Given the description of an element on the screen output the (x, y) to click on. 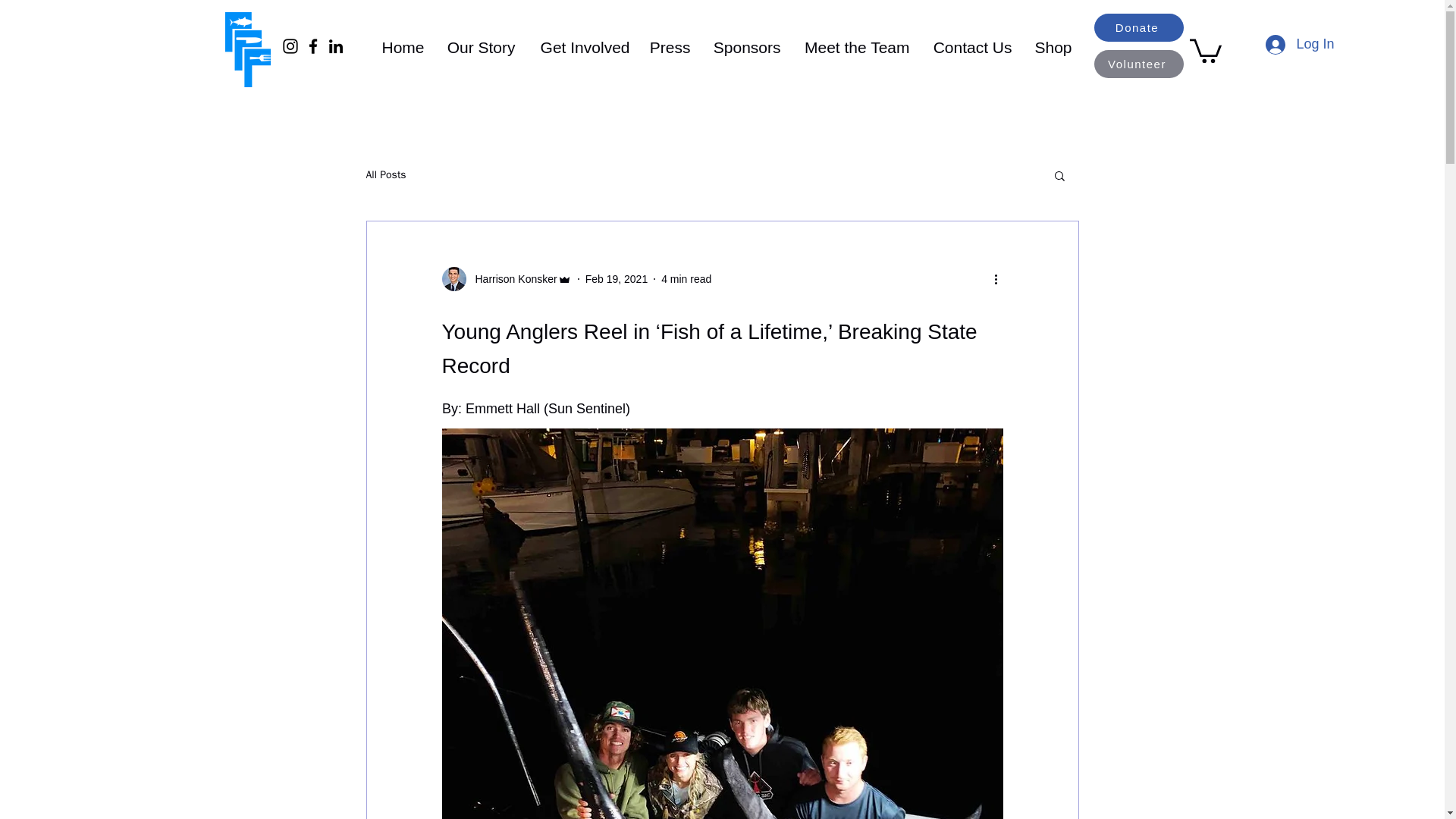
Our Story (477, 46)
Harrison Konsker (505, 278)
Press (667, 46)
Get Involved (579, 46)
Sponsors (742, 46)
Meet the Team (853, 46)
Contact Us (968, 46)
All Posts (385, 174)
Shop (1048, 46)
Feb 19, 2021 (616, 278)
Donate (1137, 27)
Volunteer (1137, 63)
Log In (1299, 44)
Home (397, 46)
Harrison Konsker (510, 279)
